Given the description of an element on the screen output the (x, y) to click on. 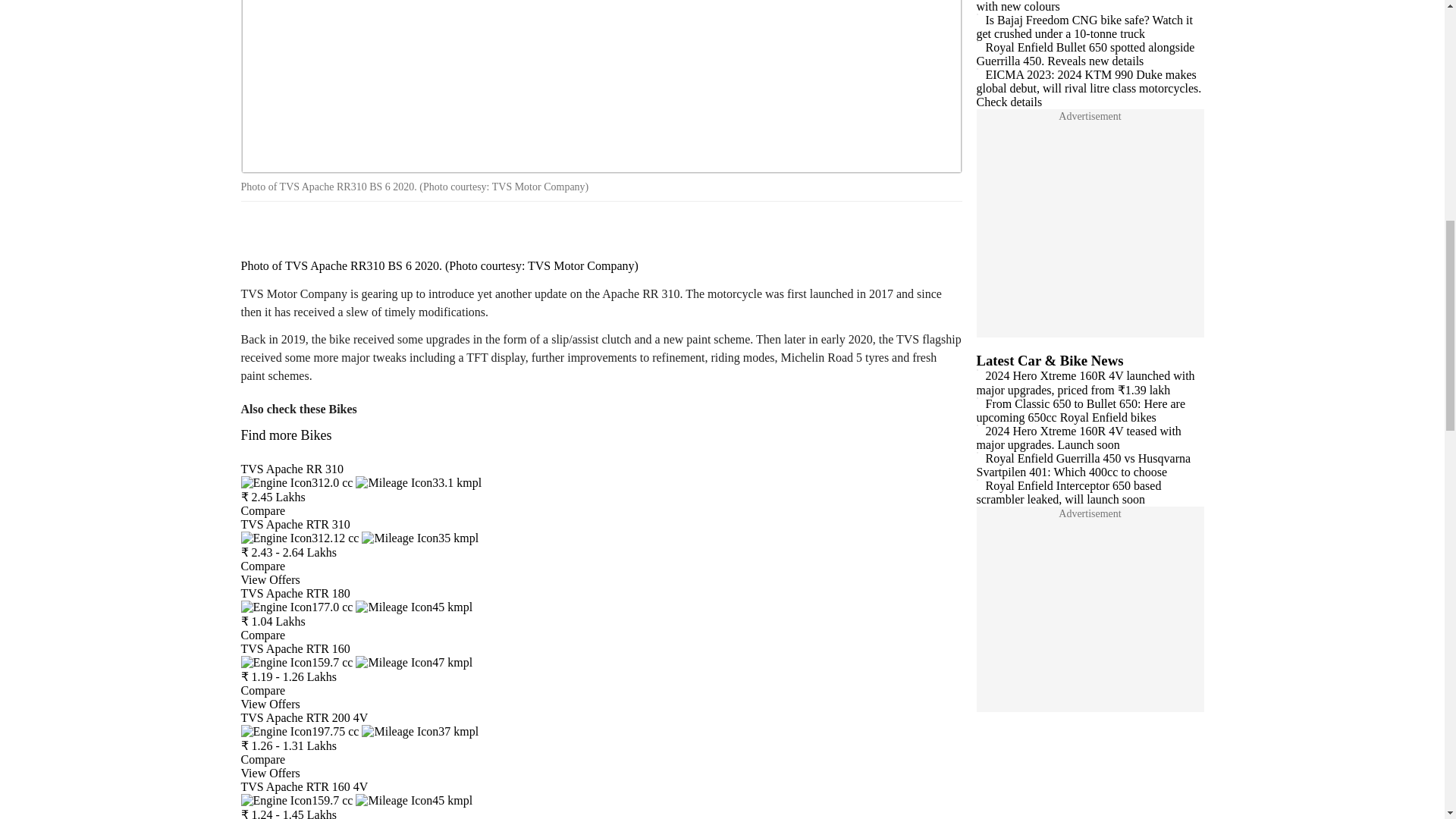
Engine (300, 537)
Mileage (413, 606)
Mileage (420, 730)
Mileage (420, 537)
Tweet (299, 227)
Engine (297, 606)
Engine (300, 730)
Engine (297, 662)
Facebook Share (258, 227)
Engine (297, 481)
Mileage (413, 662)
Mileage (418, 481)
